Given the description of an element on the screen output the (x, y) to click on. 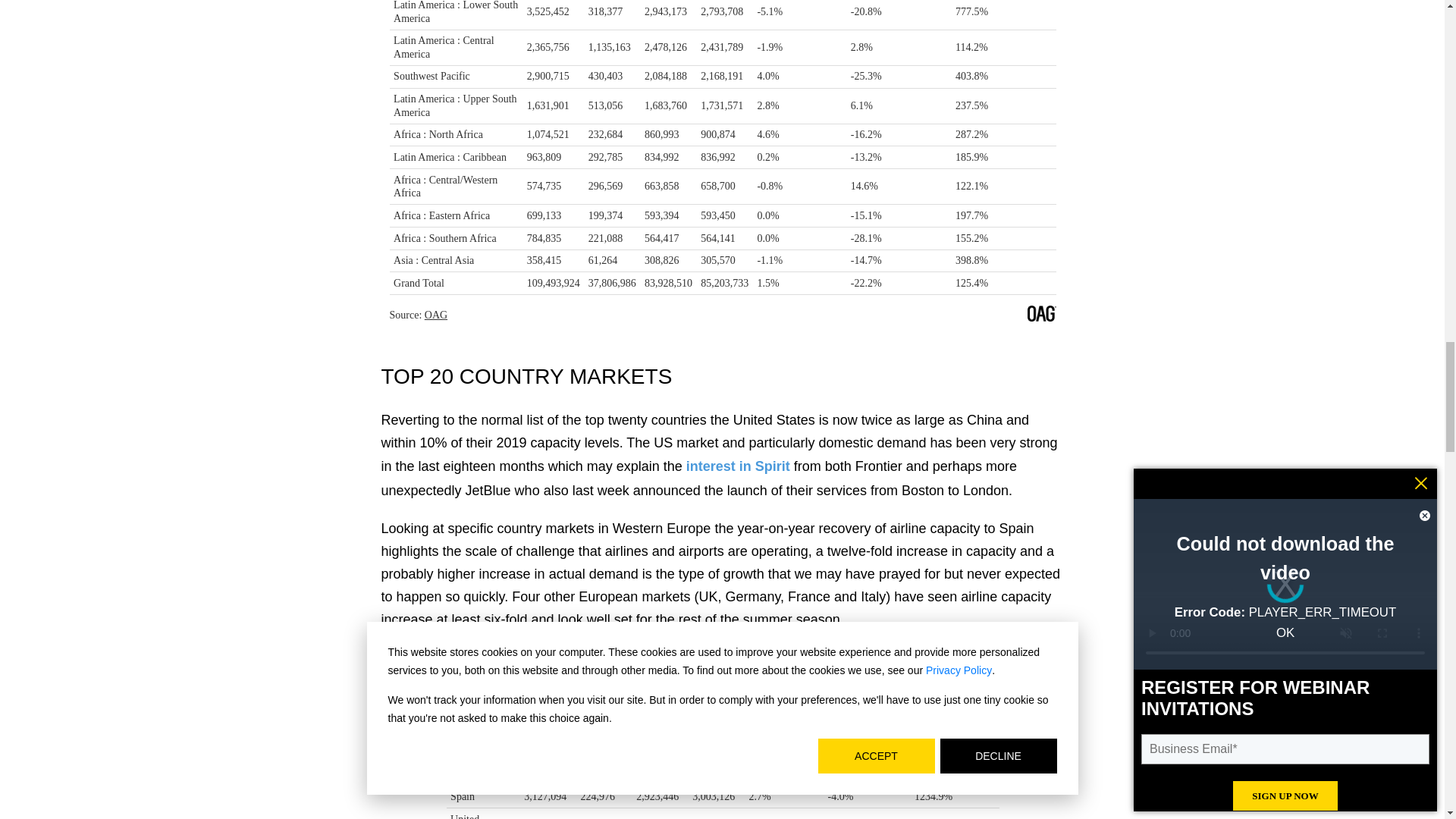
Interactive or visual content (722, 732)
